Given the description of an element on the screen output the (x, y) to click on. 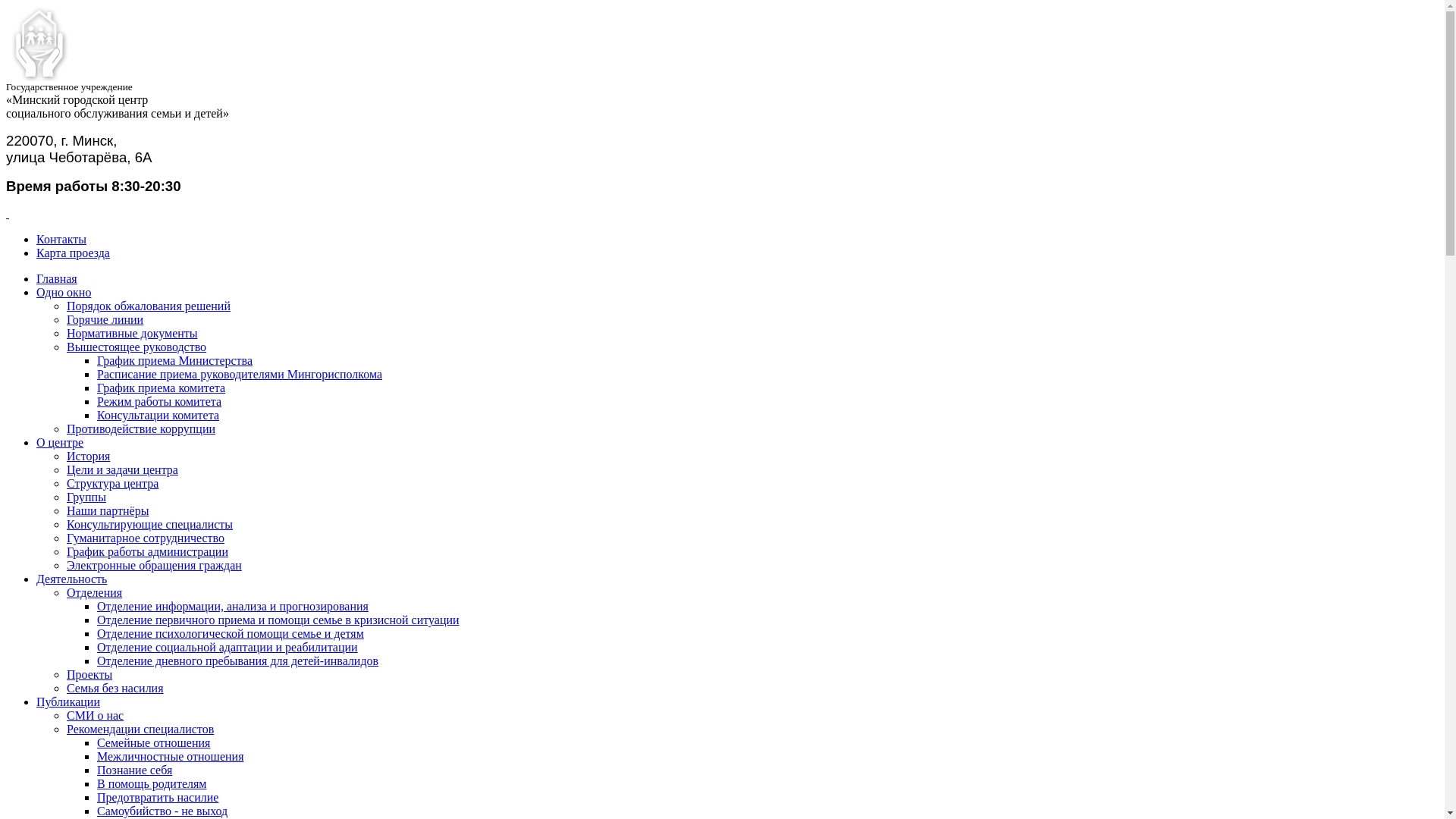
  Element type: text (7, 213)
